Given the description of an element on the screen output the (x, y) to click on. 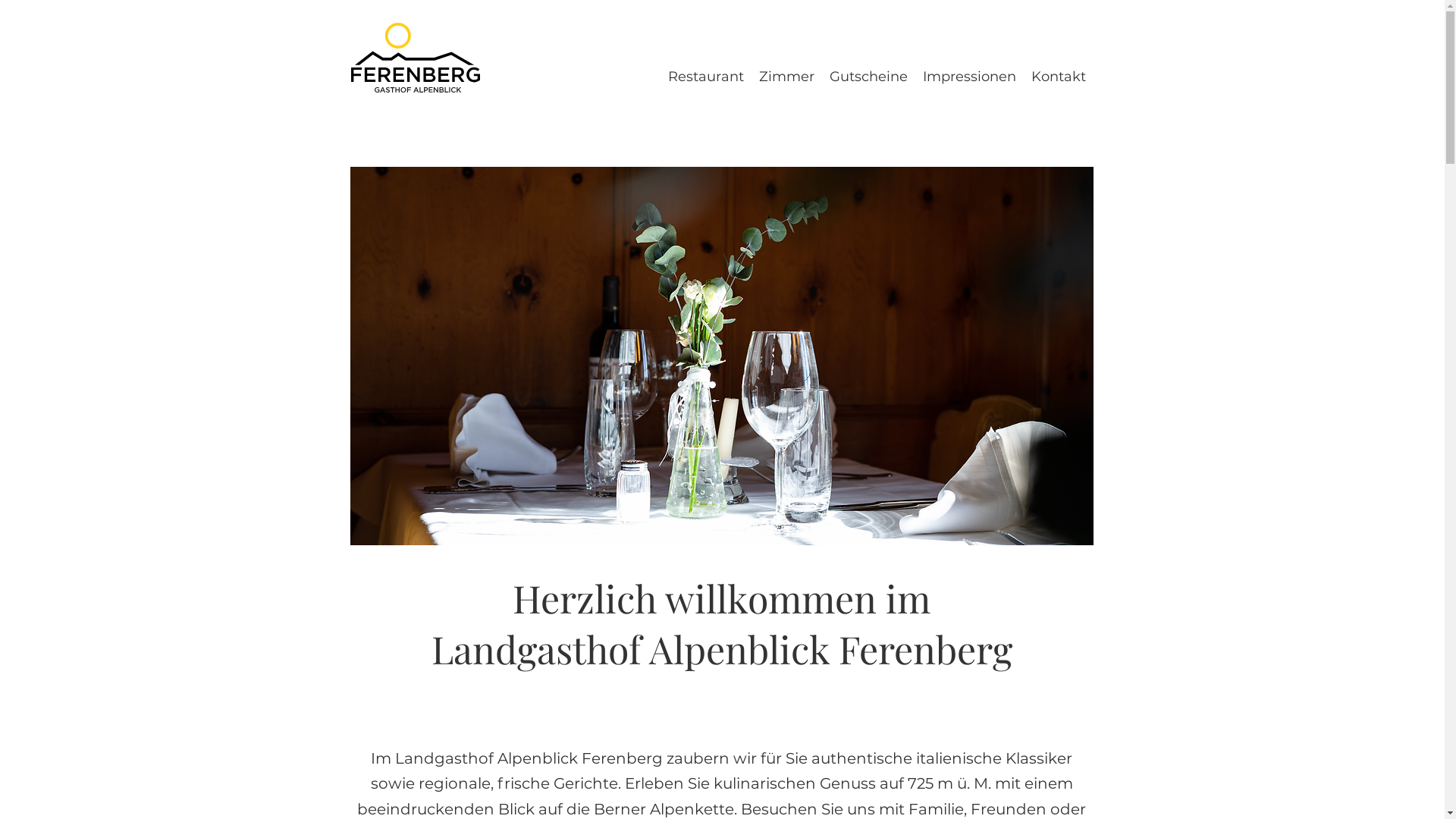
Kontakt Element type: text (1058, 75)
Zimmer Element type: text (785, 75)
Gutscheine Element type: text (868, 75)
Restaurant Element type: text (704, 75)
Impressionen Element type: text (968, 75)
